Given the description of an element on the screen output the (x, y) to click on. 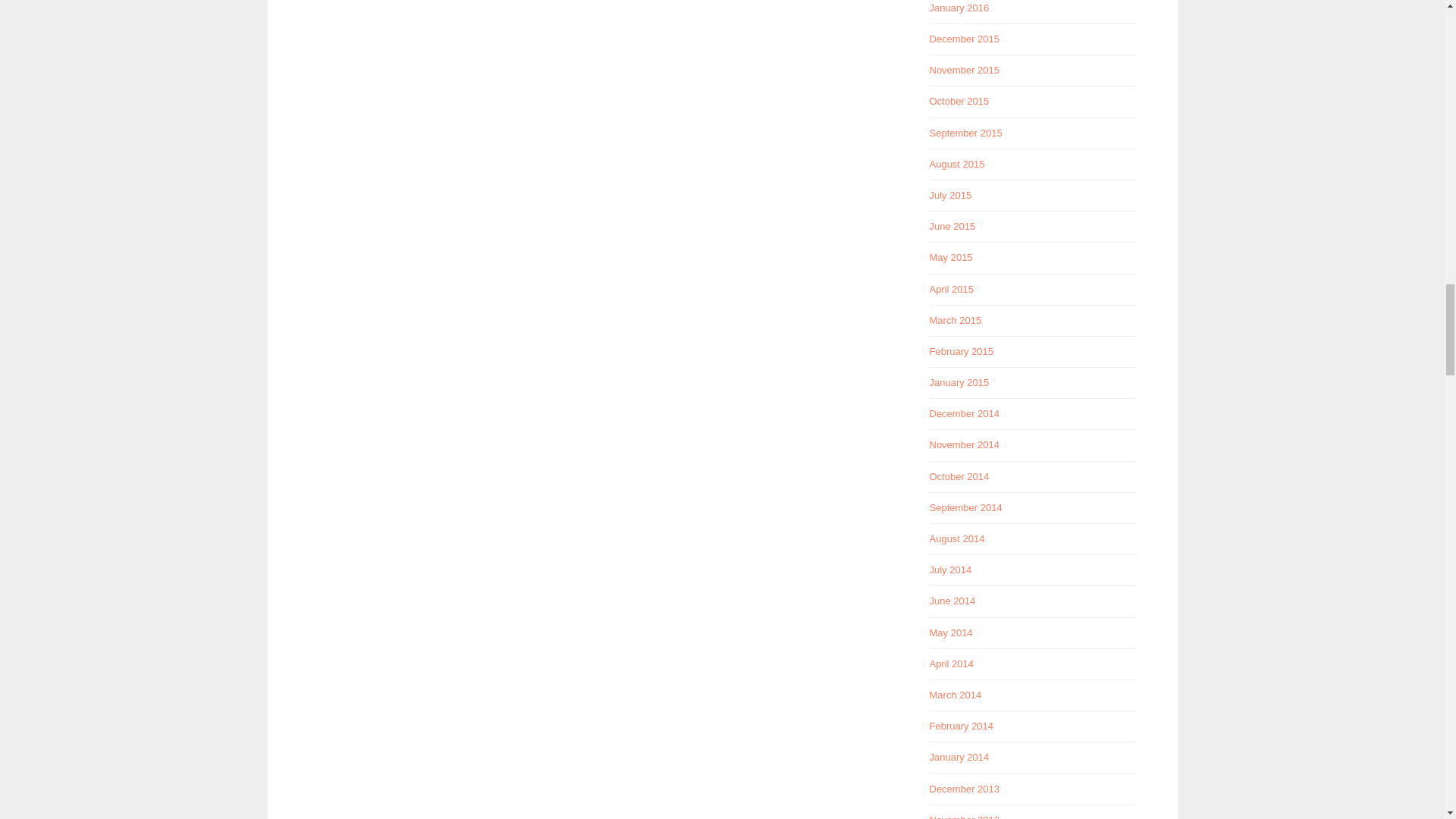
Comment Form (596, 96)
